Given the description of an element on the screen output the (x, y) to click on. 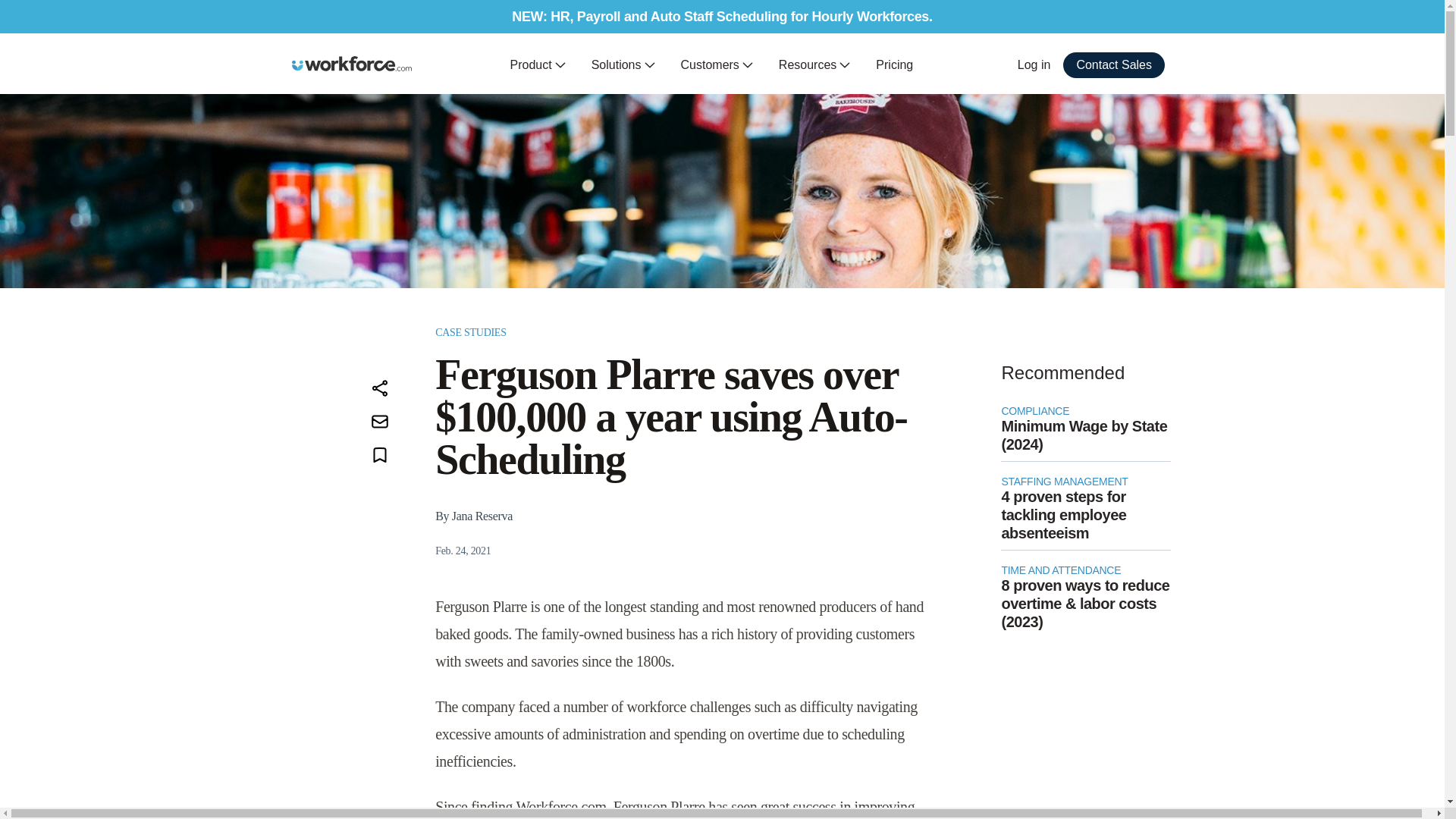
Product (539, 65)
Workforce.com (351, 63)
Solutions (623, 65)
